Given the description of an element on the screen output the (x, y) to click on. 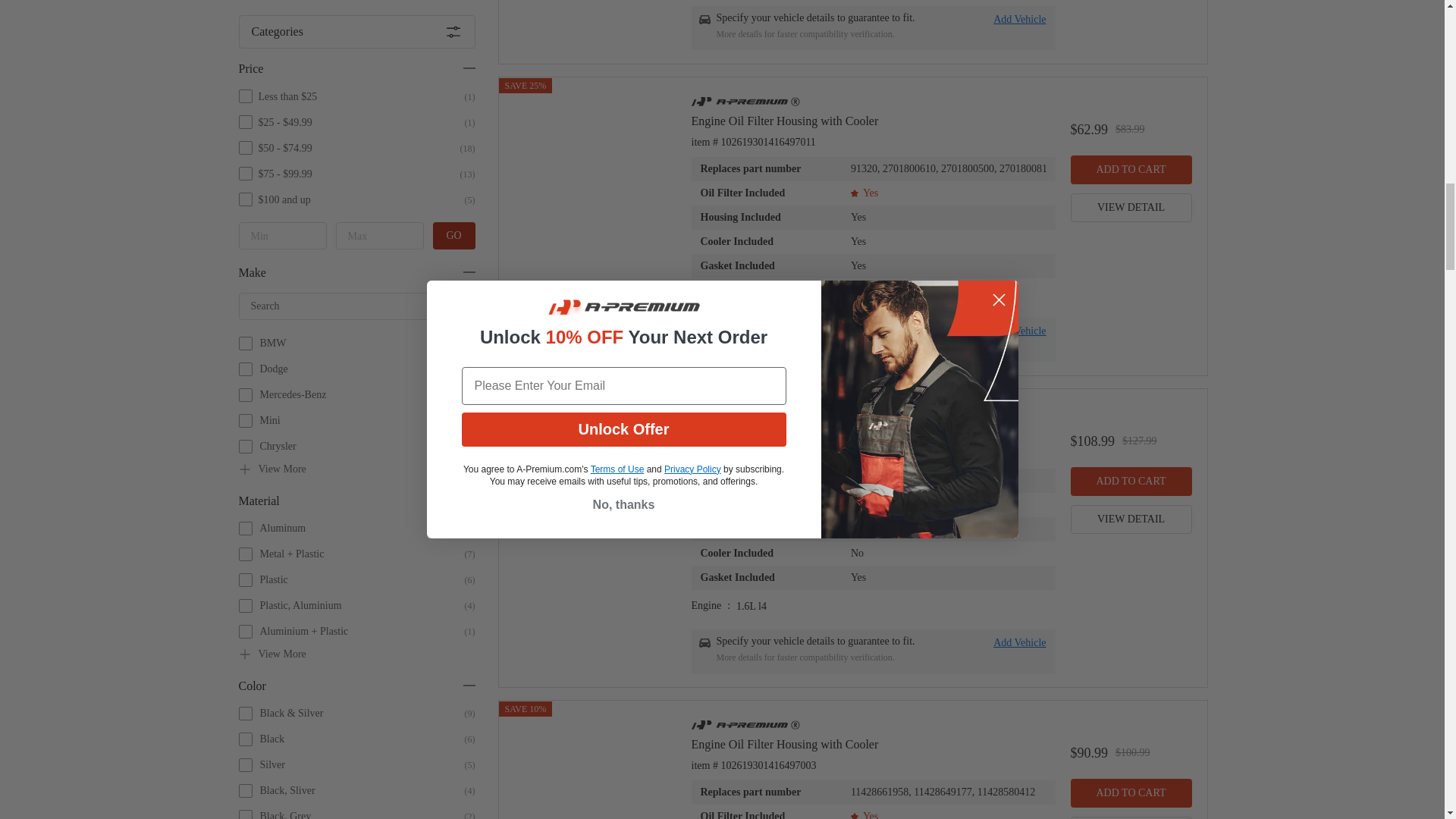
ADD TO CART (1131, 169)
Engine Oil Filter Housing with Cooler (873, 120)
